Given the description of an element on the screen output the (x, y) to click on. 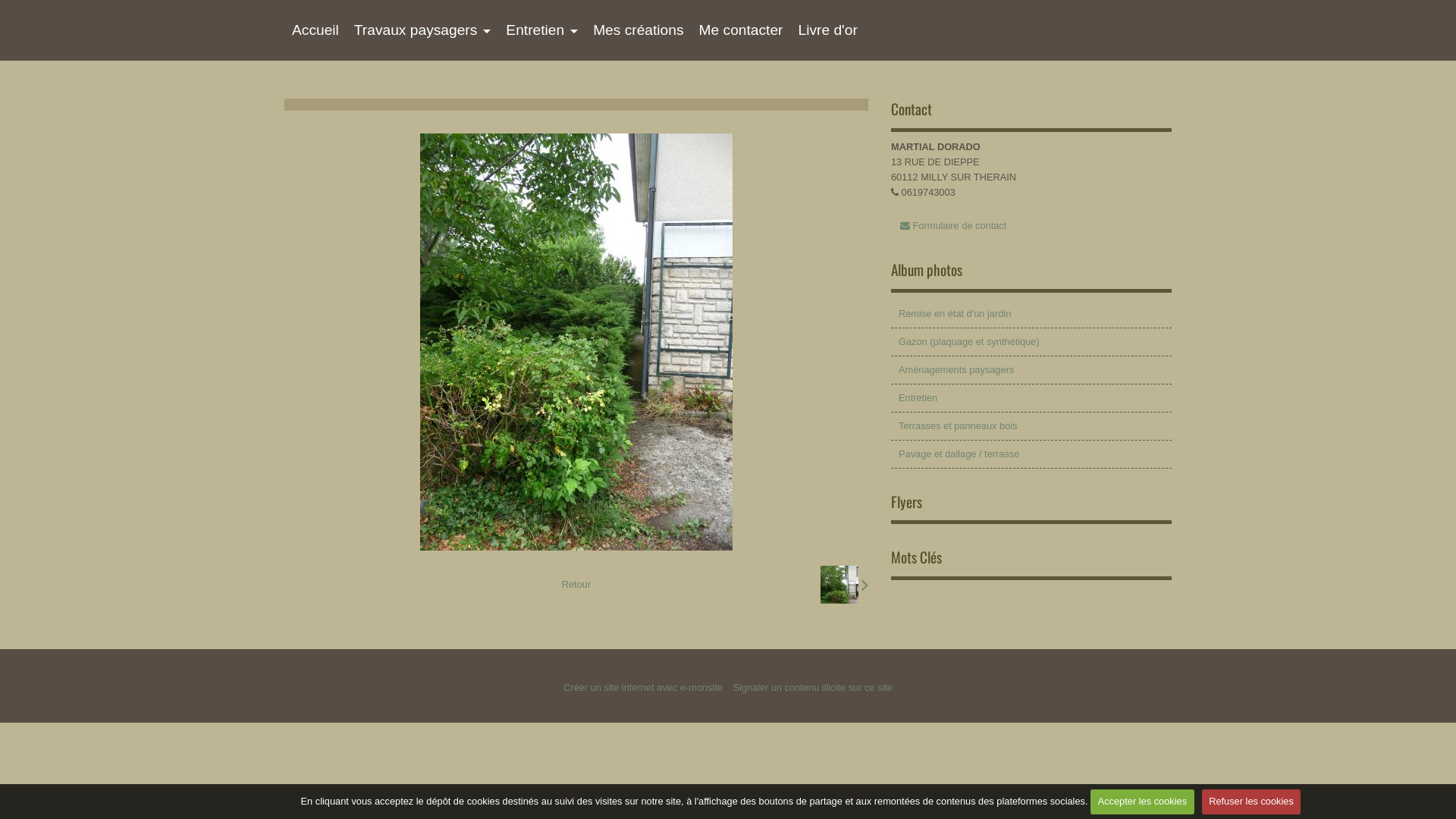
Entretien Element type: text (1030, 397)
Livre d'or Element type: text (827, 30)
Travaux paysagers Element type: text (422, 30)
Signaler un contenu illicite sur ce site Element type: text (812, 687)
Flyers Element type: text (906, 501)
Accueil Element type: text (315, 30)
Photo suivante Element type: hover (844, 584)
Entretien Element type: text (541, 30)
Refuser les cookies Element type: text (1251, 801)
Accepter les cookies Element type: text (1142, 801)
Retour Element type: text (575, 584)
Terrasses et panneaux bois Element type: text (1030, 426)
Me contacter Element type: text (740, 30)
Pavage et dallage / terrasse Element type: text (1030, 454)
Formulaire de contact Element type: text (953, 225)
